Given the description of an element on the screen output the (x, y) to click on. 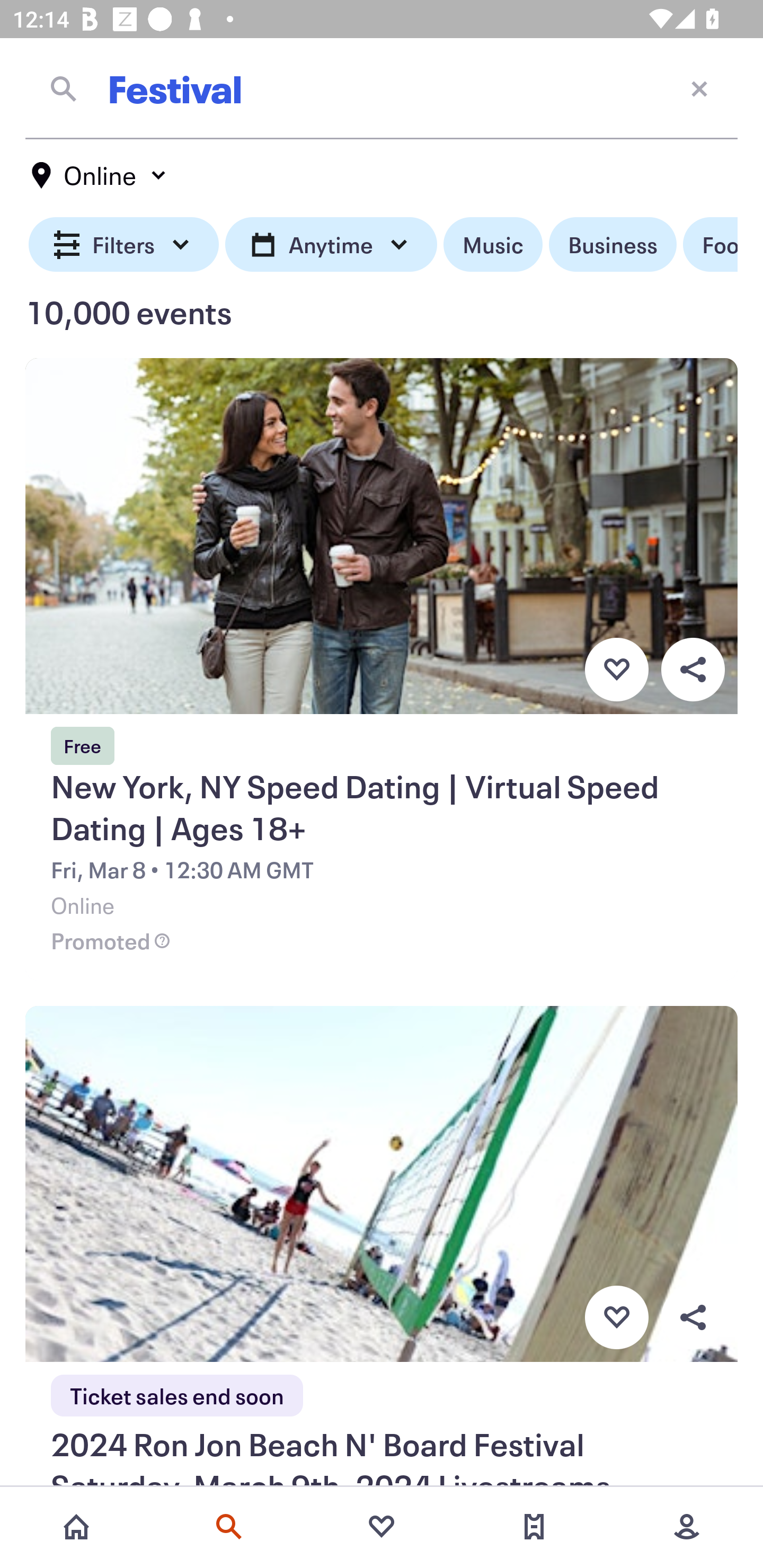
Festival Close current screen (381, 88)
Close current screen (699, 88)
Online (99, 175)
Filters (123, 244)
Anytime (331, 244)
Music (492, 244)
Business (612, 244)
Favorite button (616, 669)
Overflow menu button (692, 669)
Favorite button (616, 1317)
Overflow menu button (692, 1317)
Home (76, 1526)
Search events (228, 1526)
Favorites (381, 1526)
Tickets (533, 1526)
More (686, 1526)
